Given the description of an element on the screen output the (x, y) to click on. 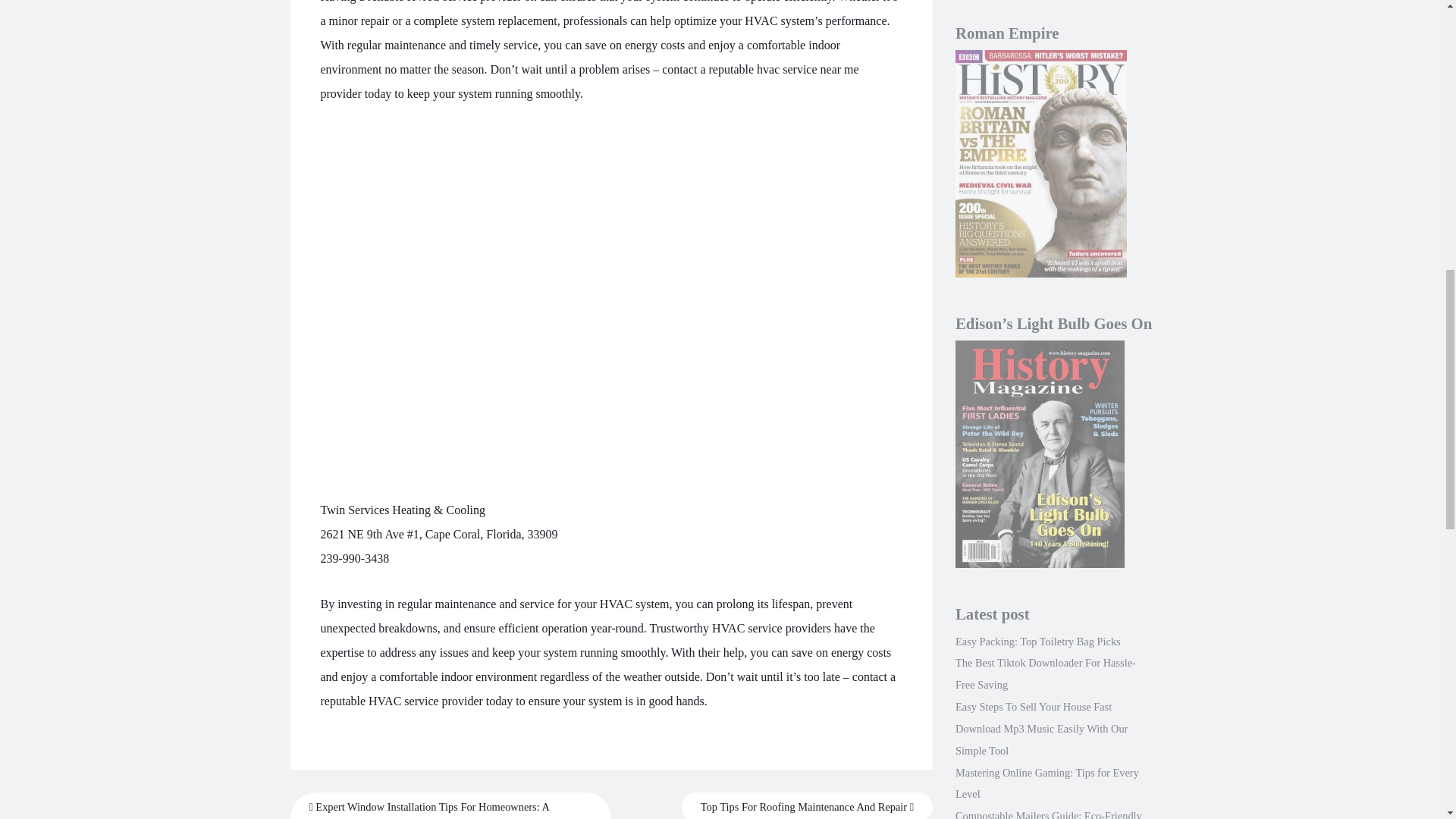
Mastering Online Gaming: Tips for Every Level (1046, 783)
The Best Tiktok Downloader For Hassle-Free Saving (1045, 673)
Easy Steps To Sell Your House Fast (1033, 706)
Download Mp3 Music Easily With Our Simple Tool (1040, 739)
Compostable Mailers Guide: Eco-Friendly Shipping Solutions (1048, 814)
Top Tips For Roofing Maintenance And Repair (807, 805)
Easy Packing: Top Toiletry Bag Picks (1038, 641)
